Given the description of an element on the screen output the (x, y) to click on. 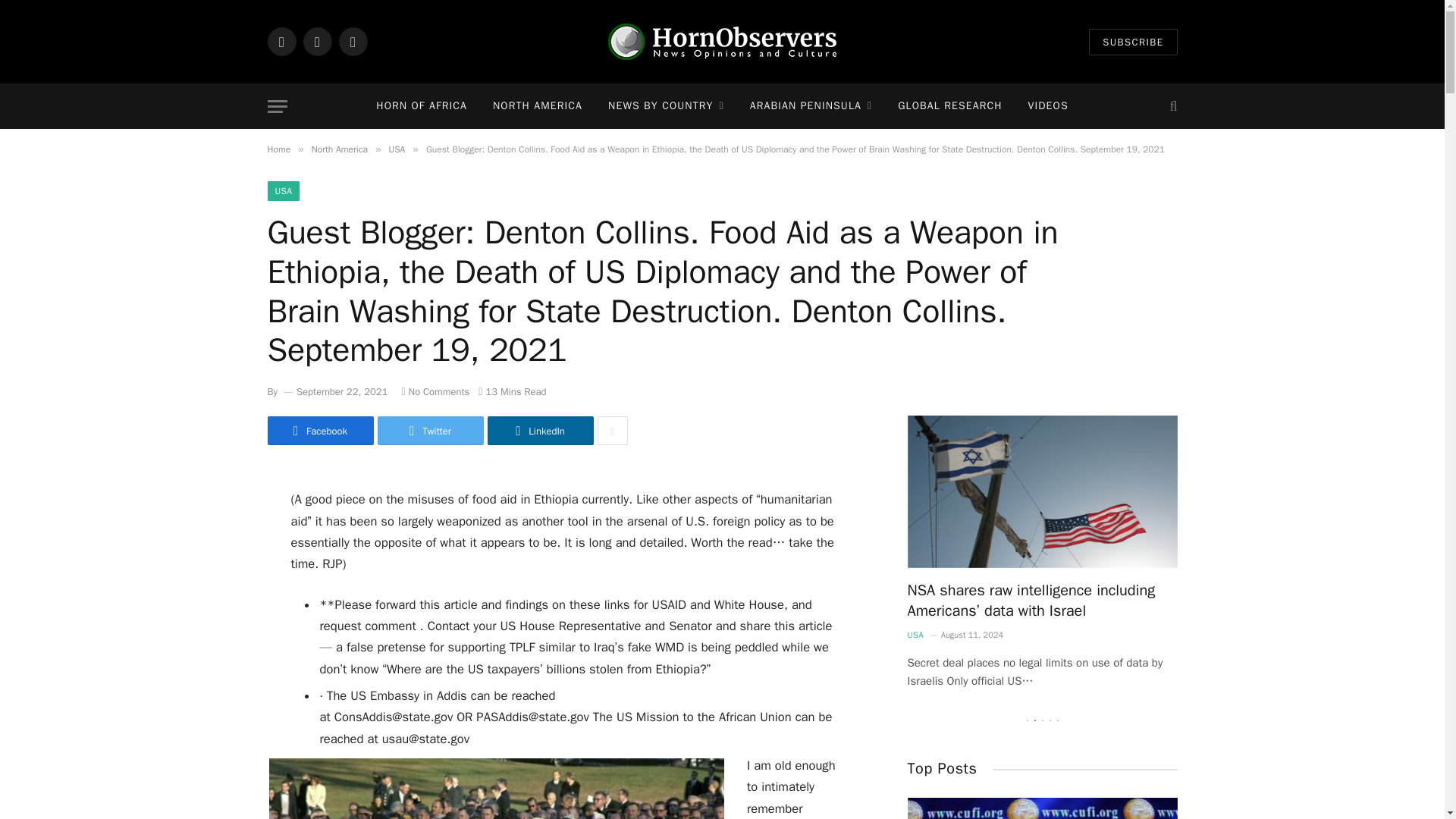
Horn Observers (721, 41)
NEWS BY COUNTRY (665, 105)
ARABIAN PENINSULA (810, 105)
SUBSCRIBE (1132, 41)
Share on LinkedIn (539, 430)
Facebook (280, 41)
Share on Facebook (319, 430)
Instagram (351, 41)
NORTH AMERICA (537, 105)
Show More Social Sharing (611, 430)
